Given the description of an element on the screen output the (x, y) to click on. 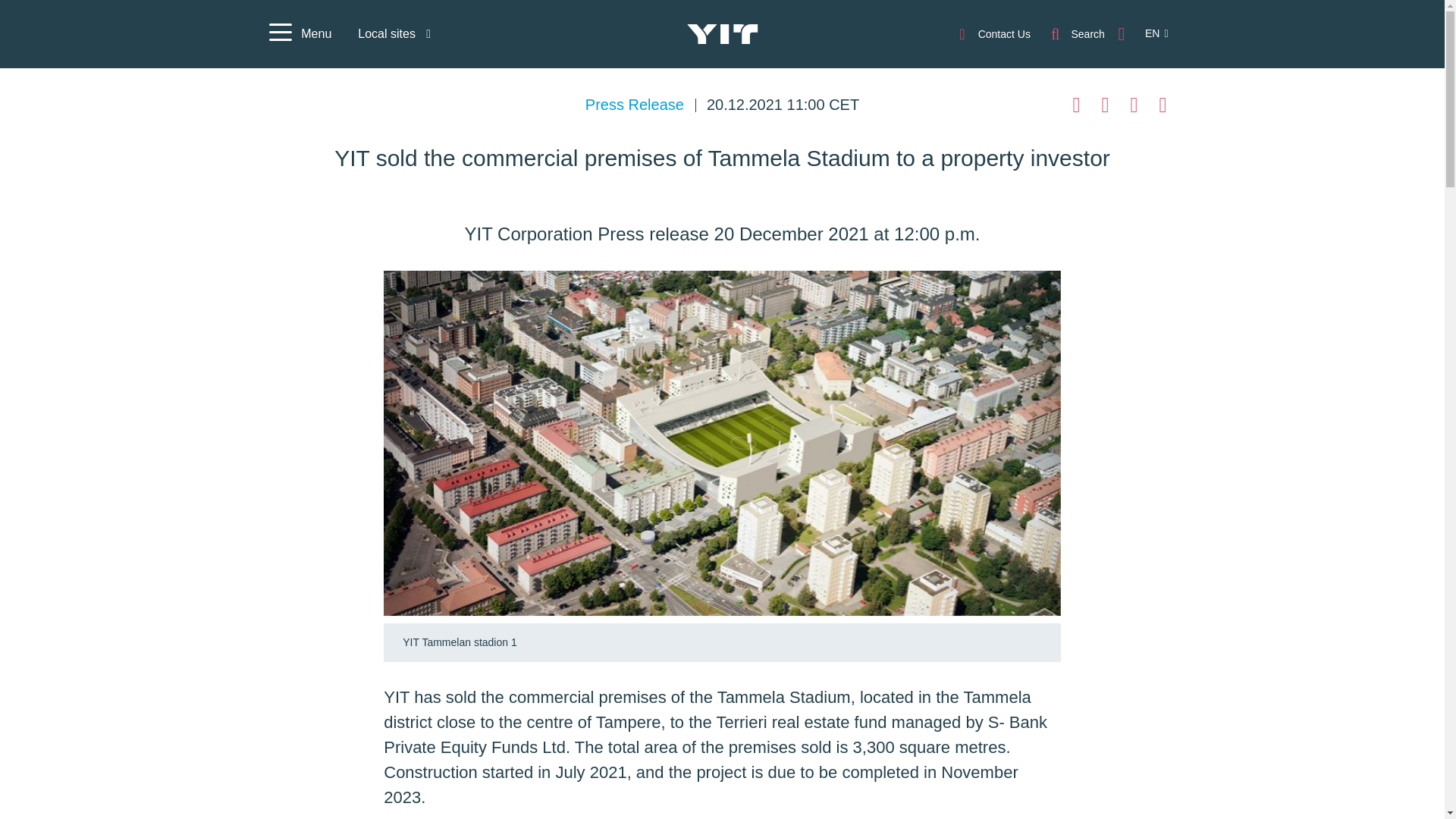
EN (1147, 33)
Menu (298, 34)
Contact Us (992, 33)
Search (1076, 33)
Local sites (393, 33)
